Given the description of an element on the screen output the (x, y) to click on. 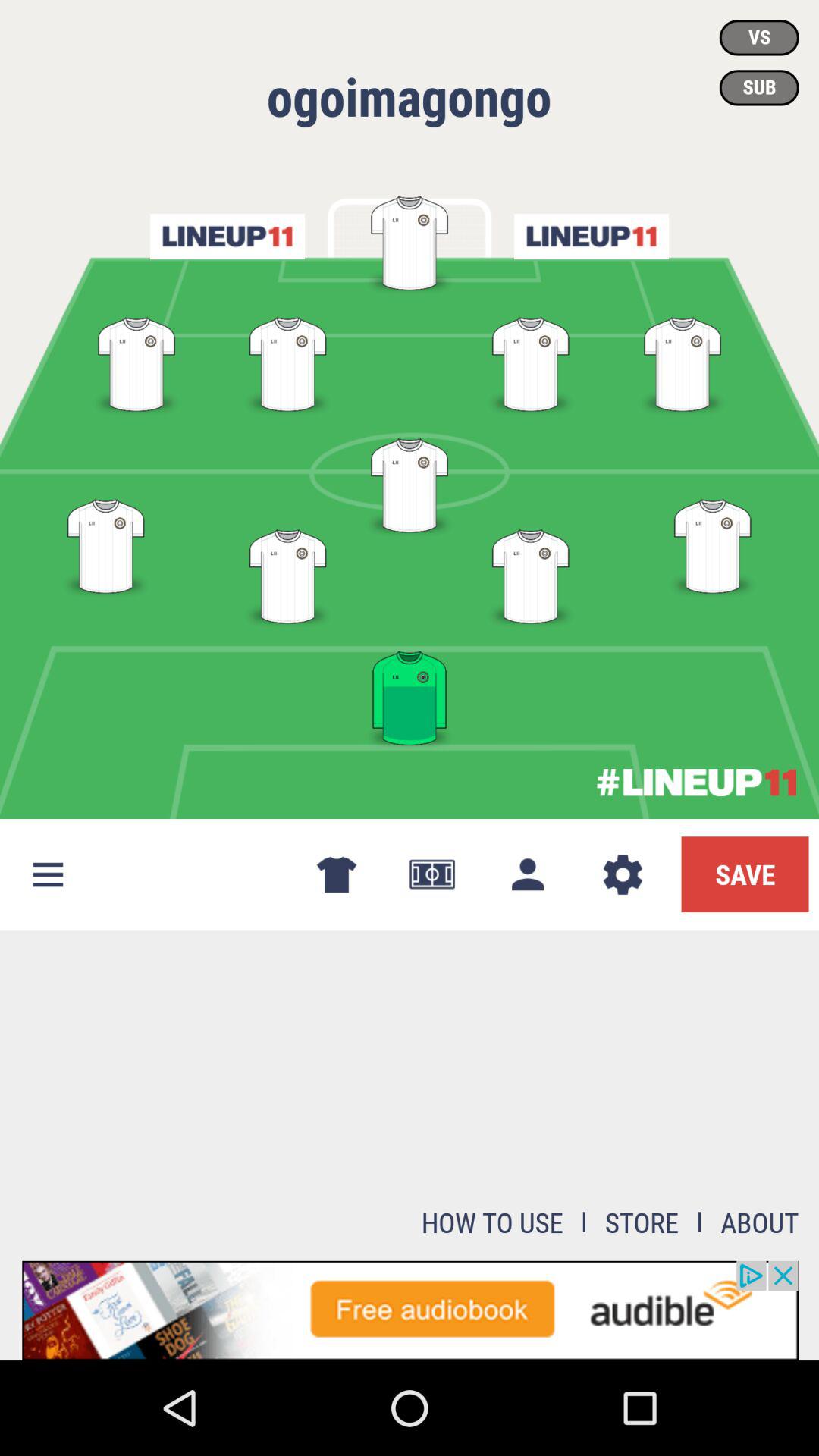
click on about at bottom right corner (760, 1221)
select the icon which is before profile icon (431, 875)
select the option how to use which is above free audiobook (492, 1221)
select the shirt option which is in the bottom row (409, 695)
select a white tshirt icon which is above menu option (105, 543)
click on the tshirt symbol which is at the left of currency symbol (336, 875)
select the white shirt which is under the text ogoimagongo (409, 240)
